Given the description of an element on the screen output the (x, y) to click on. 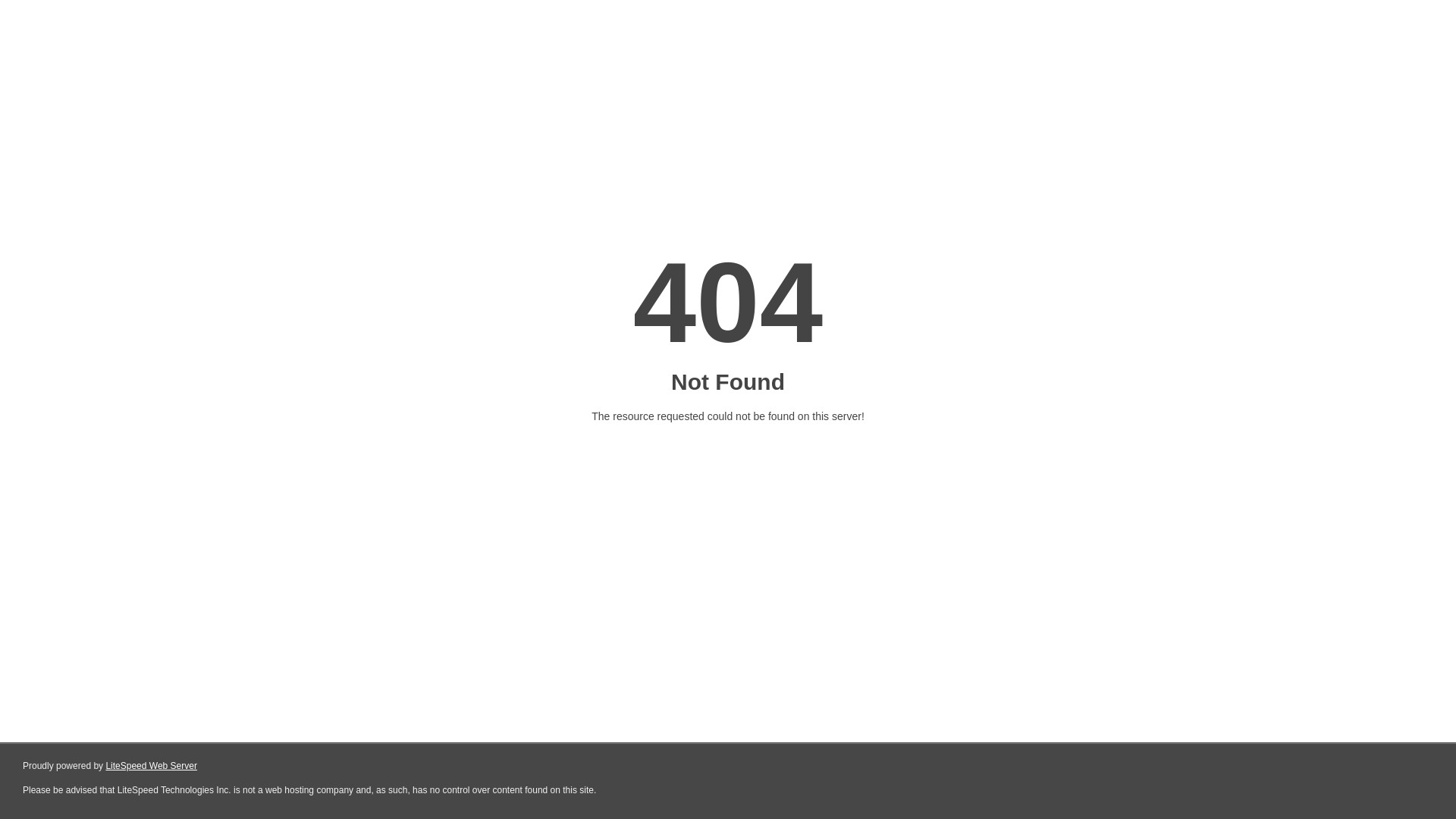
LiteSpeed Web Server Element type: text (151, 765)
